Given the description of an element on the screen output the (x, y) to click on. 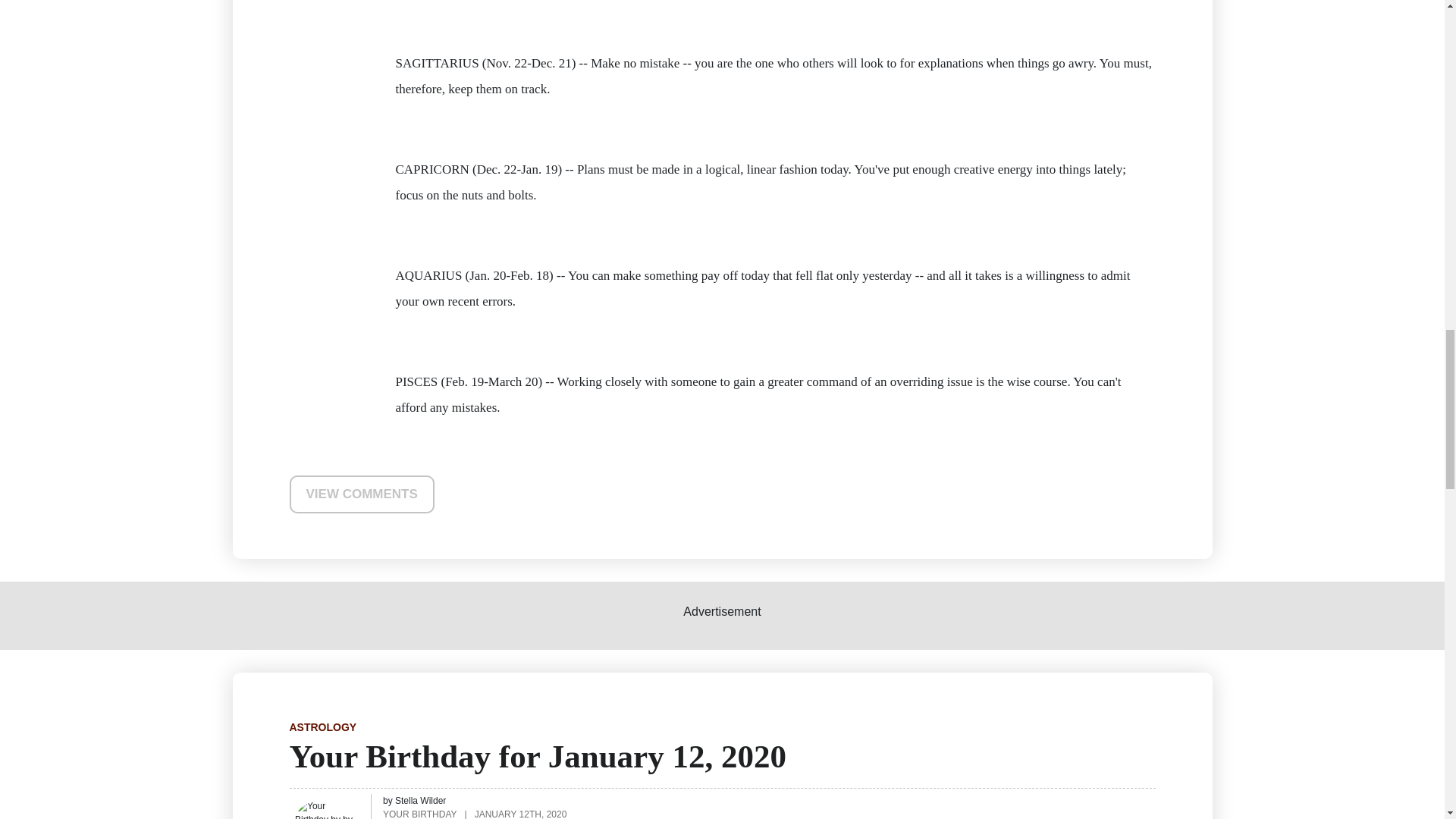
VIEW COMMENTS (361, 494)
YOUR BIRTHDAY (419, 813)
ASTROLOGY (322, 726)
